Given the description of an element on the screen output the (x, y) to click on. 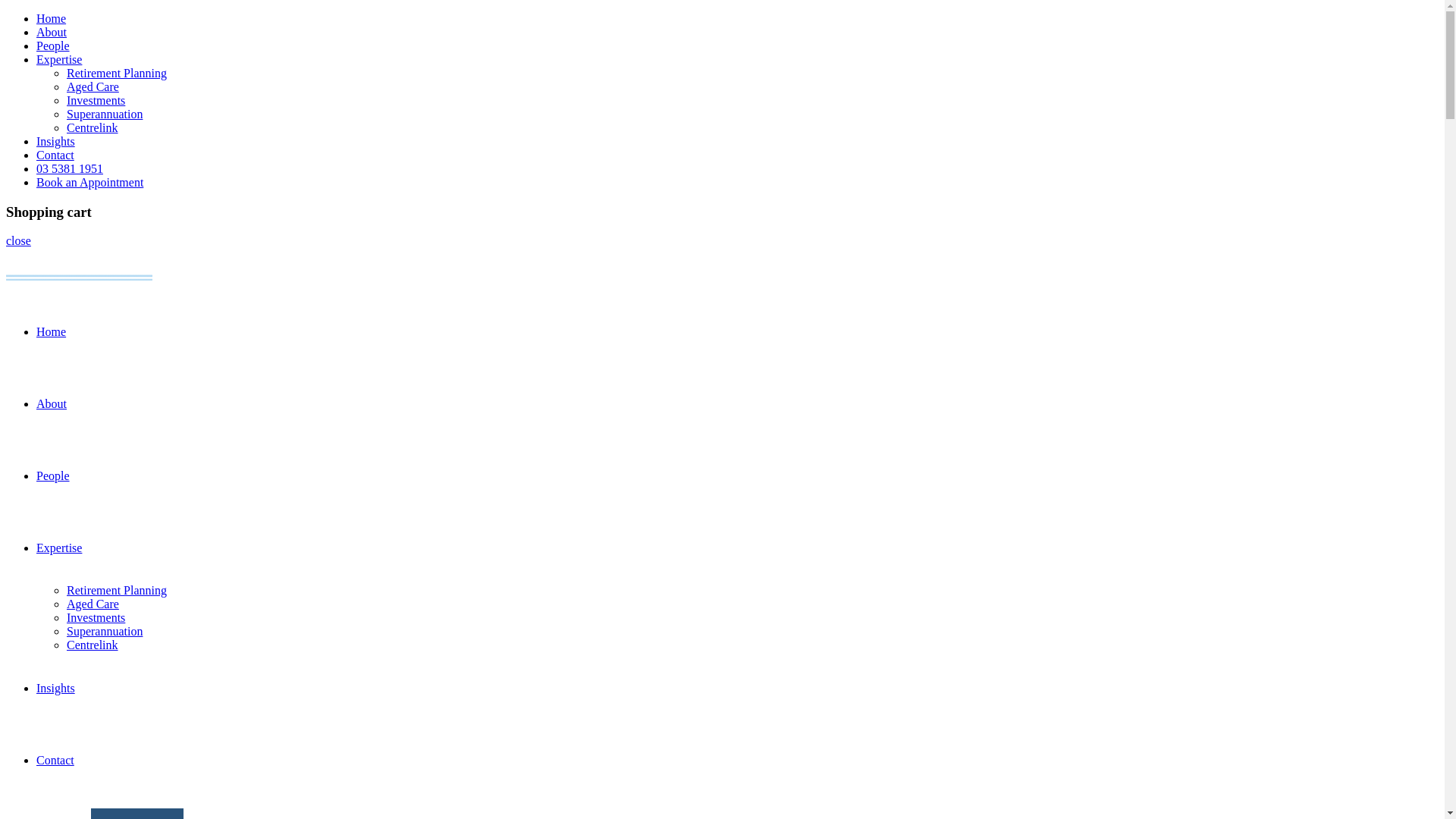
Superannuation Element type: text (104, 630)
Aged Care Element type: text (92, 603)
Centrelink Element type: text (92, 127)
About Element type: text (51, 31)
Superannuation Element type: text (104, 113)
Insights Element type: text (55, 140)
About Element type: text (51, 403)
Home Element type: text (50, 331)
Expertise Element type: text (58, 59)
Retirement Planning Element type: text (116, 589)
Investments Element type: text (95, 100)
03 5381 1951 Element type: text (69, 168)
Retirement Planning Element type: text (116, 72)
Home Element type: text (50, 18)
People Element type: text (52, 45)
Contact Element type: text (55, 154)
People Element type: text (52, 475)
Insights Element type: text (55, 687)
Aged Care Element type: text (92, 86)
Investments Element type: text (95, 617)
close Element type: text (18, 240)
Book an Appointment Element type: text (89, 181)
Centrelink Element type: text (92, 644)
Contact Element type: text (55, 759)
Expertise Element type: text (58, 547)
